Given the description of an element on the screen output the (x, y) to click on. 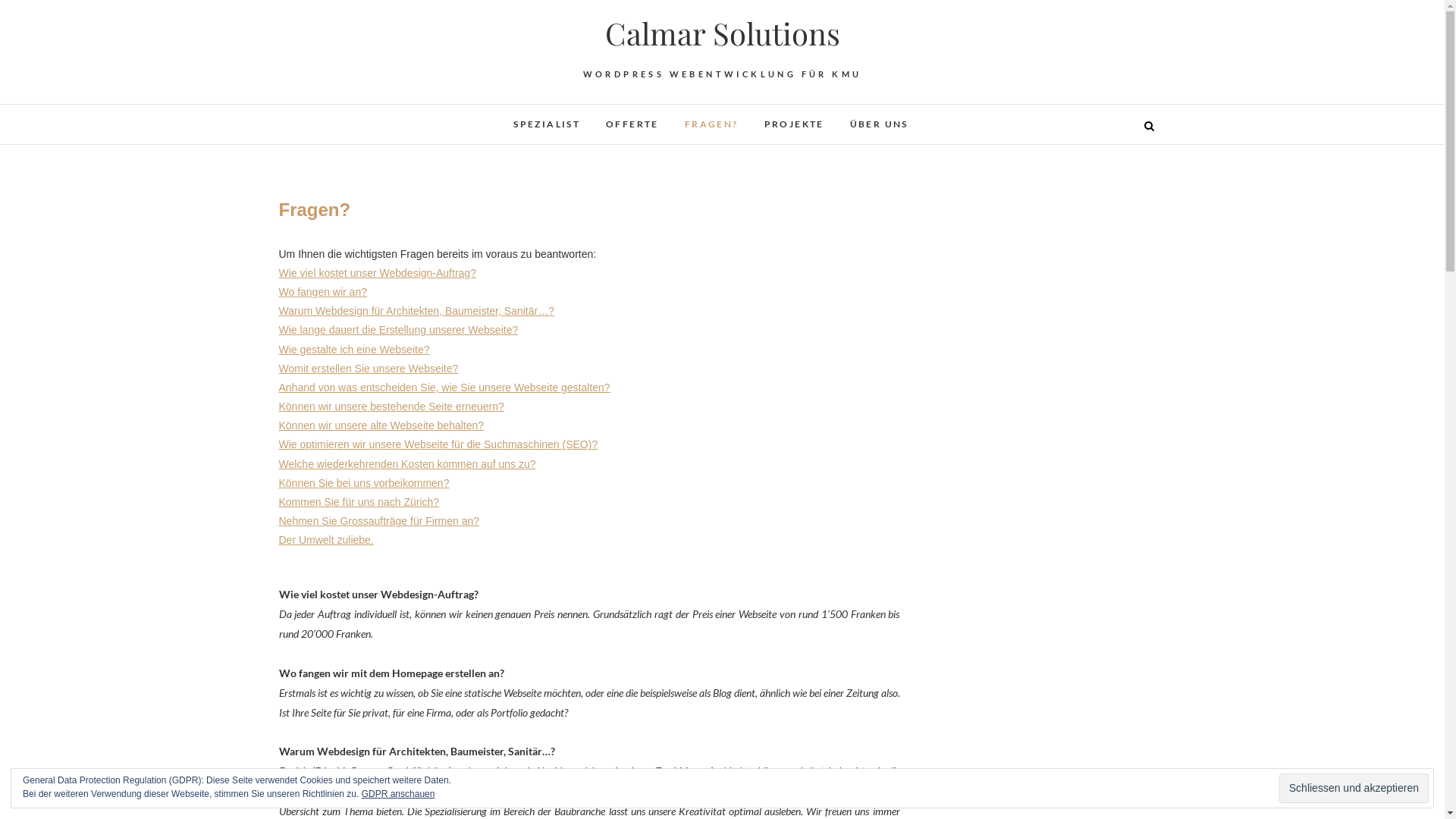
Wie gestalte ich eine Webseite? Element type: text (354, 349)
Schliessen und akzeptieren Element type: text (1353, 788)
Womit erstellen Sie unsere Webseite? Element type: text (368, 368)
Wie viel kostet unser Webdesign-Auftrag? Element type: text (377, 272)
PROJEKTE Element type: text (793, 124)
Wie lange dauert die Erstellung unserer Webseite? Element type: text (398, 329)
GDPR anschauen Element type: text (398, 793)
Calmar Solutions Element type: text (721, 33)
Go to Top Element type: hover (1407, 789)
Der Umwelt zuliebe. Element type: text (326, 539)
Wo fangen wir an? Element type: text (323, 291)
SPEZIALIST Element type: text (546, 124)
Welche wiederkehrenden Kosten kommen auf uns zu? Element type: text (407, 464)
FRAGEN? Element type: text (711, 124)
OFFERTE Element type: text (632, 124)
